Given the description of an element on the screen output the (x, y) to click on. 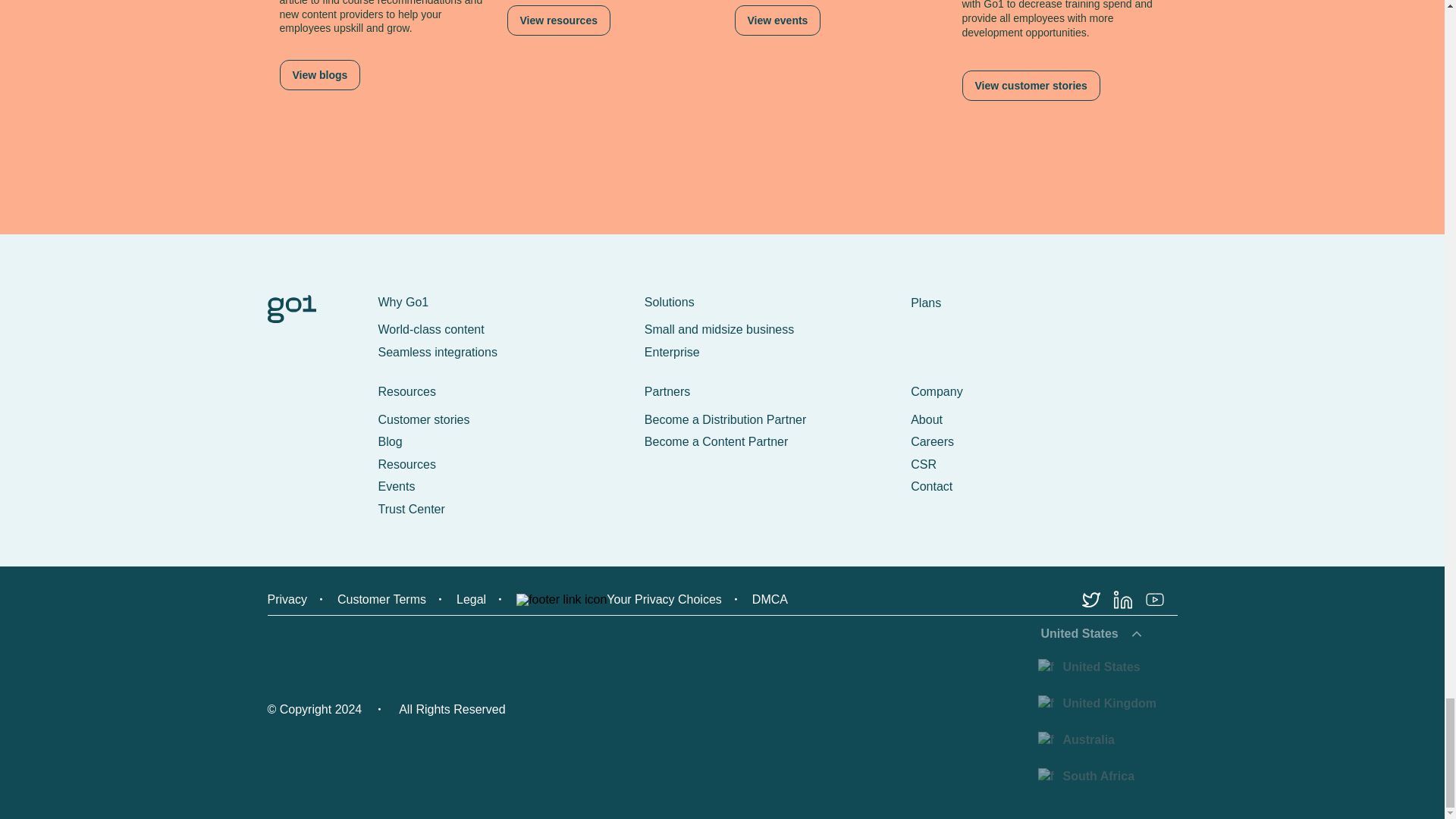
View events (777, 20)
View resources (558, 20)
View blogs (319, 74)
View customer stories (1029, 85)
